Given the description of an element on the screen output the (x, y) to click on. 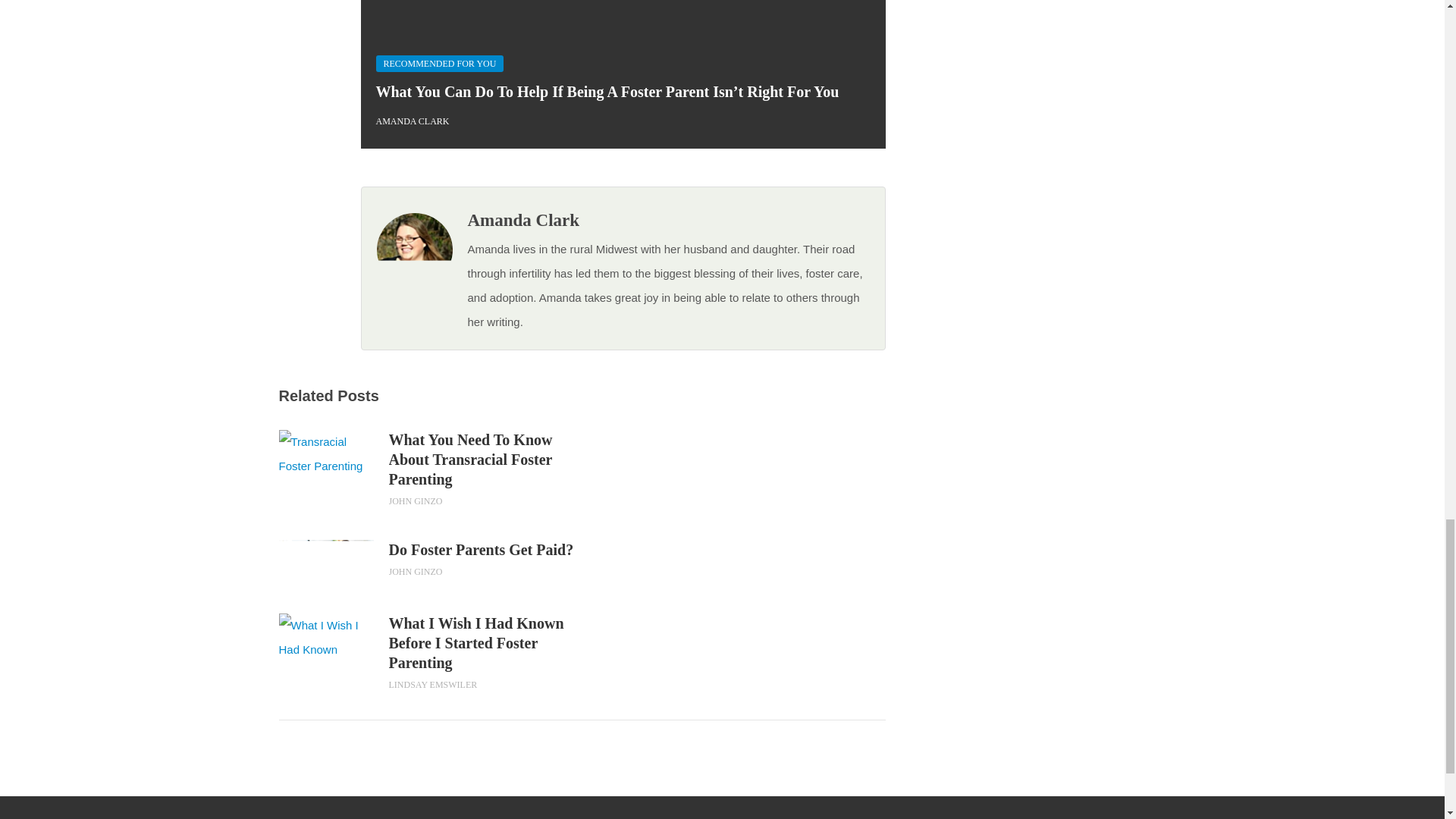
What I Wish I Had Known Before I Started Foster Parenting (326, 636)
Posts by John Ginzo (415, 501)
AMANDA CLARK (412, 121)
Do Foster Parents Get Paid? (484, 549)
Posts by John Ginzo (415, 571)
Do Foster Parents Get Paid? (484, 549)
Amanda Clark (523, 220)
What I Wish I Had Known Before I Started Foster Parenting (484, 642)
JOHN GINZO (415, 571)
What You Need To Know About Transracial Foster Parenting (484, 458)
